Given the description of an element on the screen output the (x, y) to click on. 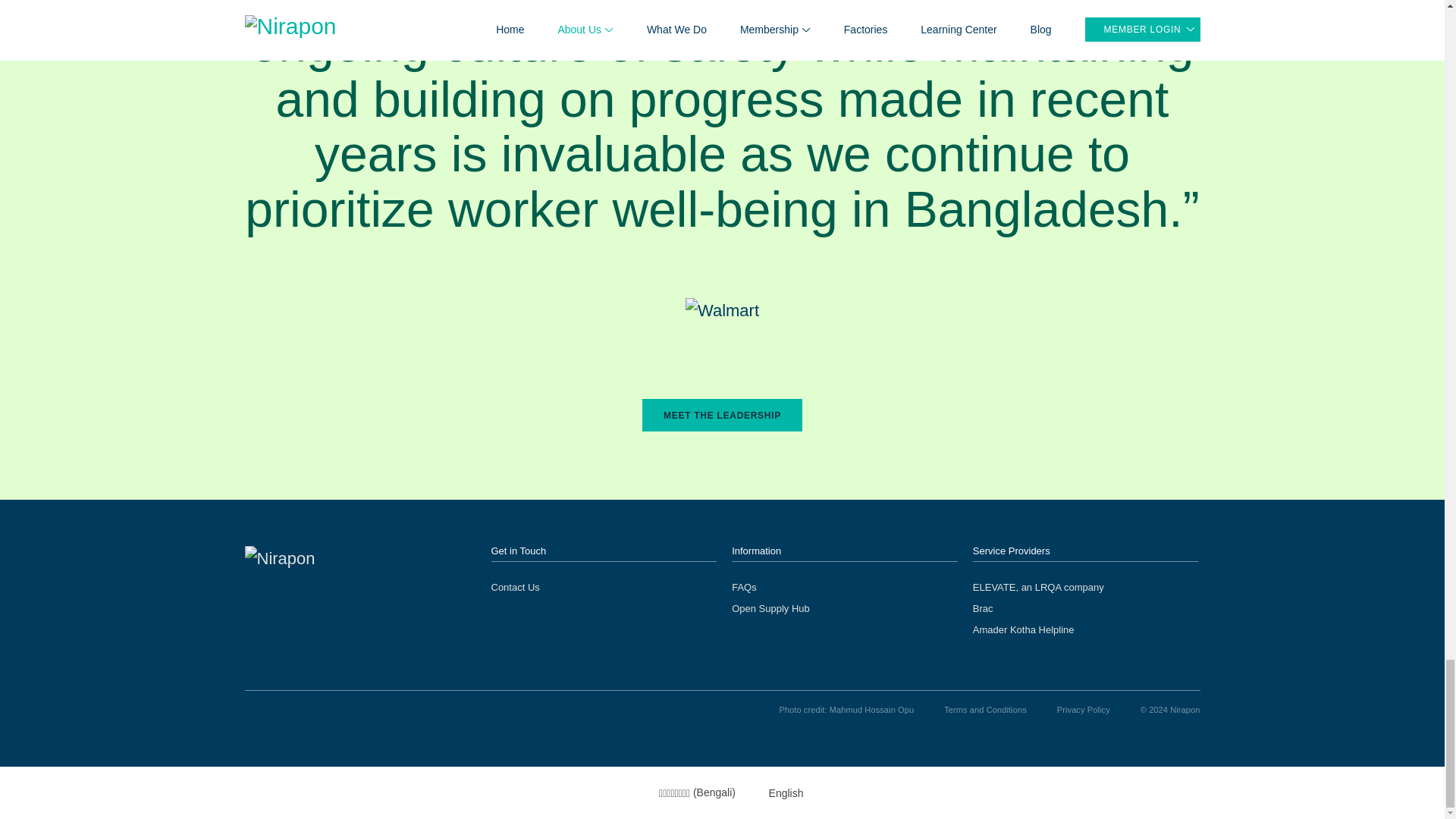
follow us on youtube (251, 709)
MEET THE LEADERSHIP (722, 414)
Contact Us (516, 586)
English (776, 792)
follow us on linkedin (282, 709)
Photo credit: Mahmud Hossain Opu (846, 709)
Open Supply Hub (770, 608)
Privacy Policy (1083, 709)
Brac (982, 608)
YouTube (251, 709)
